Given the description of an element on the screen output the (x, y) to click on. 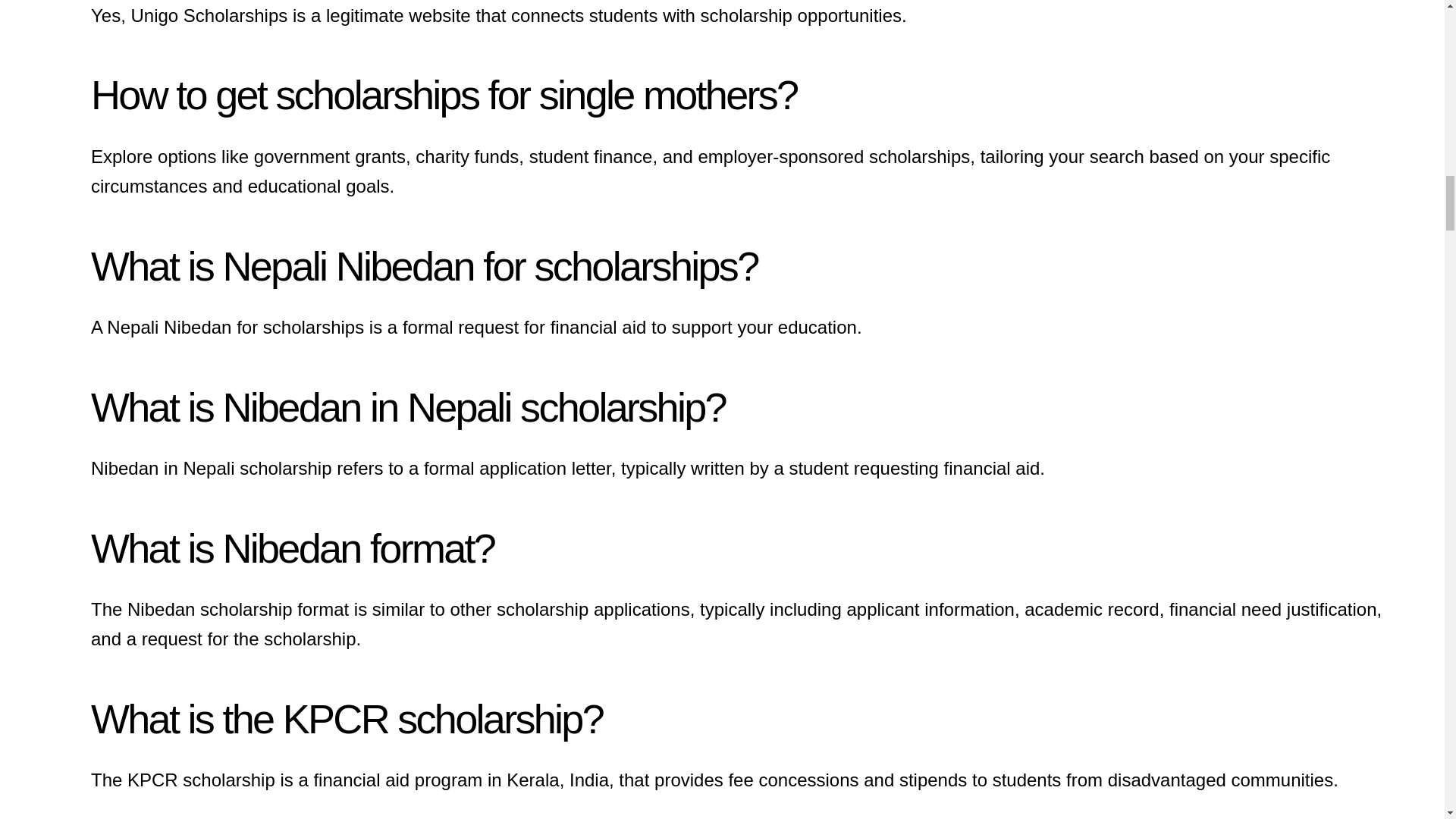
How to get scholarships for single mothers? (443, 94)
What is Nepali Nibedan for scholarships? (423, 266)
What is Nibedan format? (292, 547)
What is the KPCR scholarship? (346, 719)
What is Nibedan in Nepali scholarship? (407, 406)
